Given the description of an element on the screen output the (x, y) to click on. 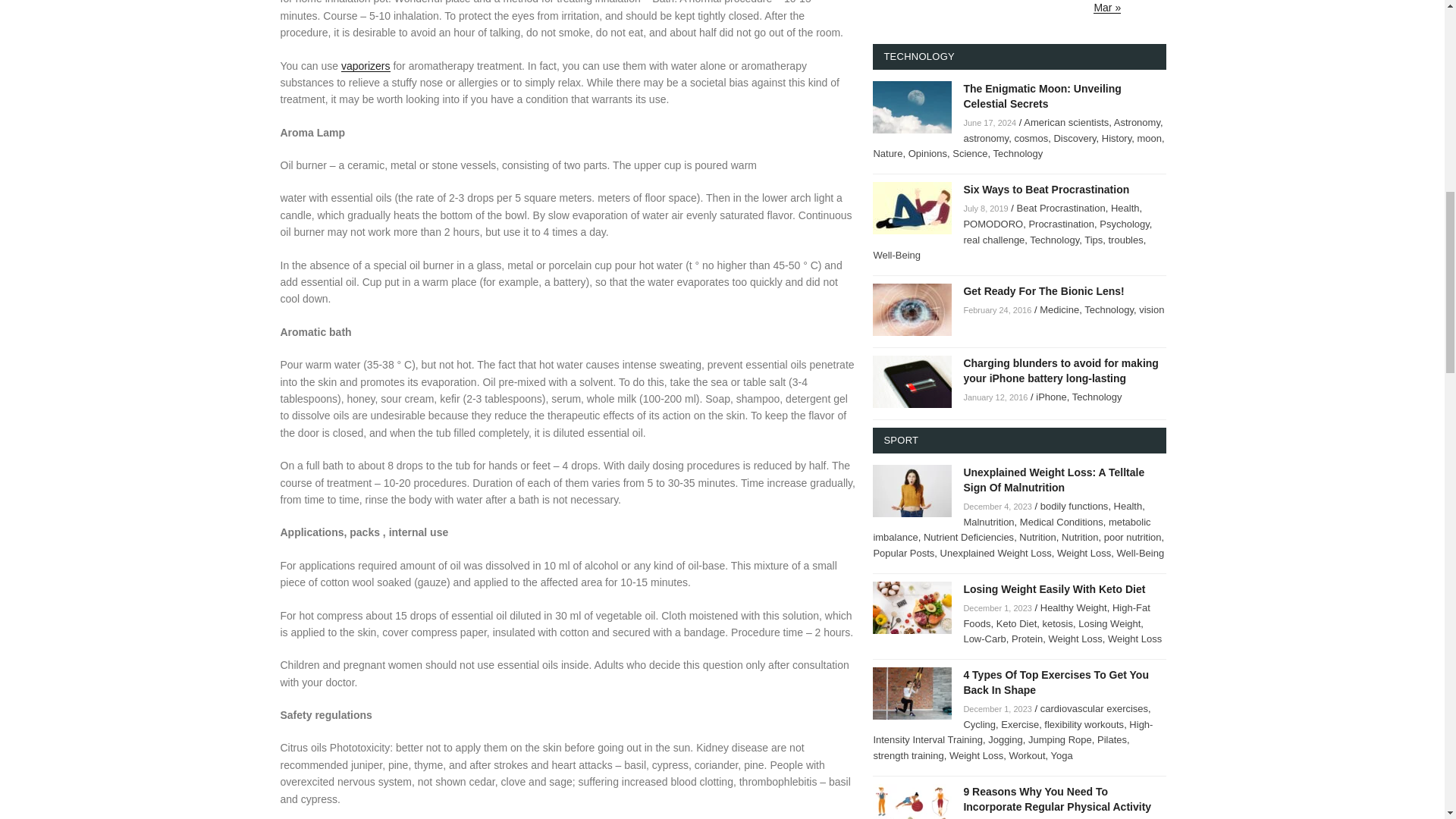
Science (969, 153)
astronomy (985, 138)
Astronomy (1136, 122)
vaporizers (365, 65)
History (1116, 138)
Discovery (1074, 138)
Opinions (927, 153)
The Enigmatic Moon: Unveiling Celestial Secrets (1041, 95)
Astronomy (1136, 122)
American scientists (1065, 122)
moon (1149, 138)
American scientists (1065, 122)
astronomy (985, 138)
Aromatherapy Vaporizers from HBG (365, 65)
cosmos (1030, 138)
